Given the description of an element on the screen output the (x, y) to click on. 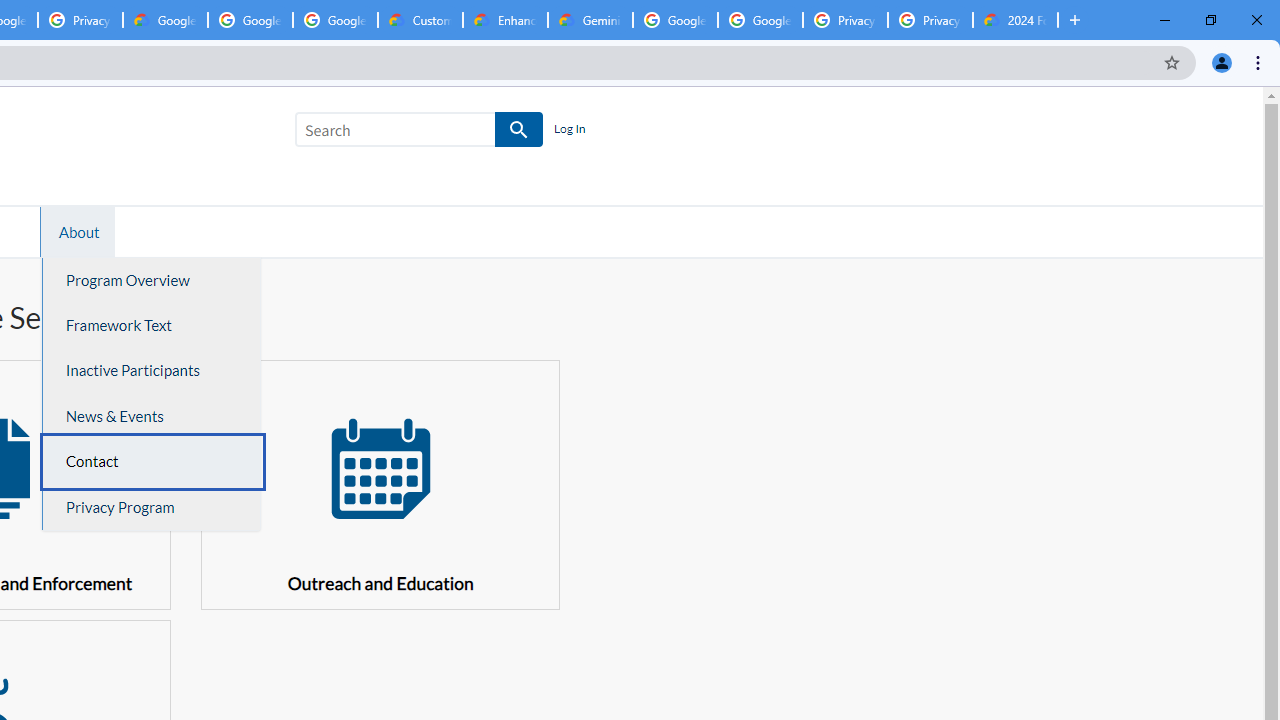
Inactive Participants (151, 370)
Framework Text (151, 325)
Contact (151, 462)
Log In (569, 129)
Enhanced Support | Google Cloud (505, 20)
News & Events (151, 416)
SEARCH (519, 130)
Google Cloud Terms Directory | Google Cloud (165, 20)
